Given the description of an element on the screen output the (x, y) to click on. 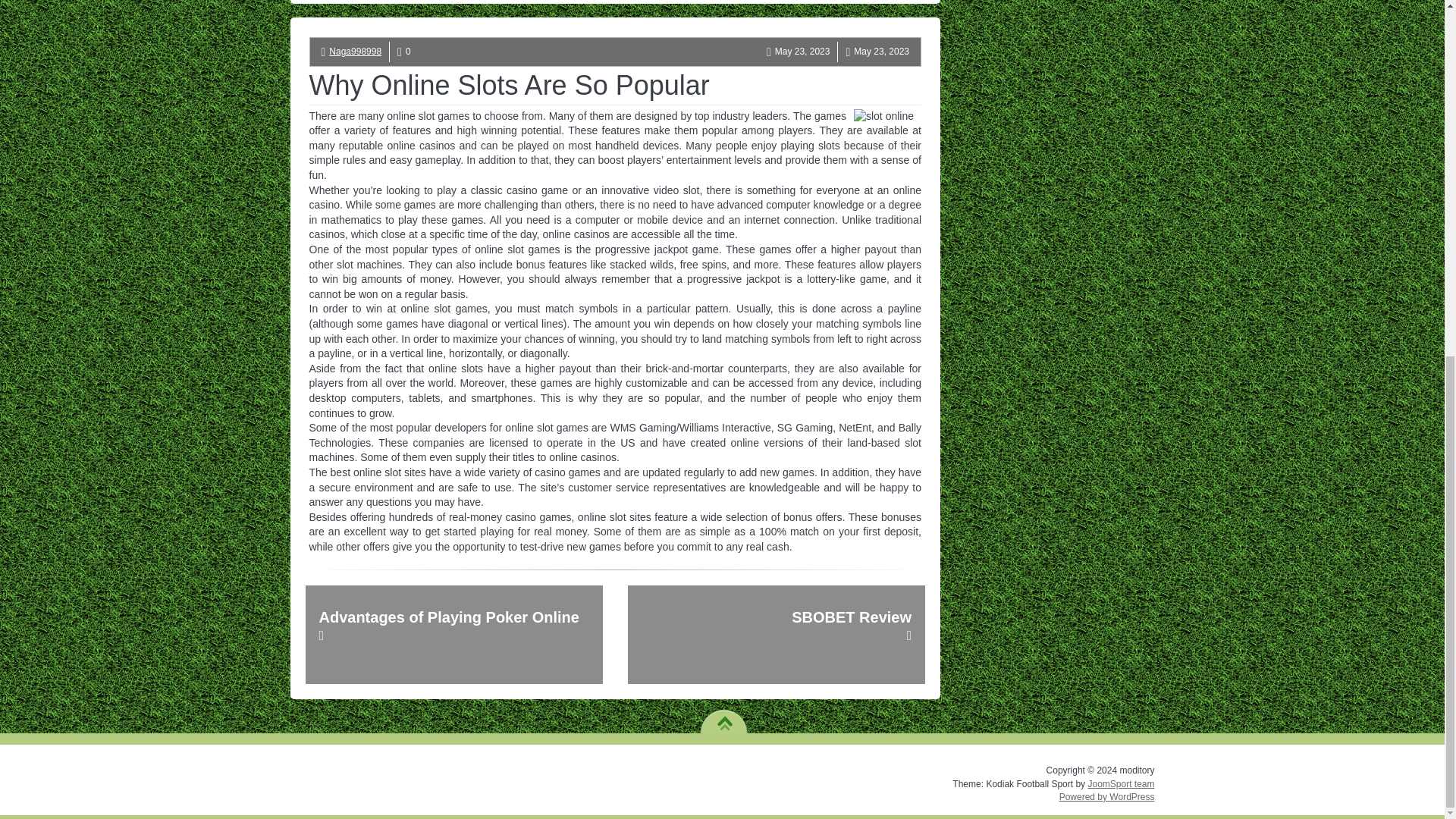
 The Best WordPress Sport Plugin for your league and club  (1120, 783)
JoomSport team (1120, 783)
Naga998998 (355, 50)
SBOBET Review (775, 634)
Advantages of Playing Poker Online (453, 634)
